Given the description of an element on the screen output the (x, y) to click on. 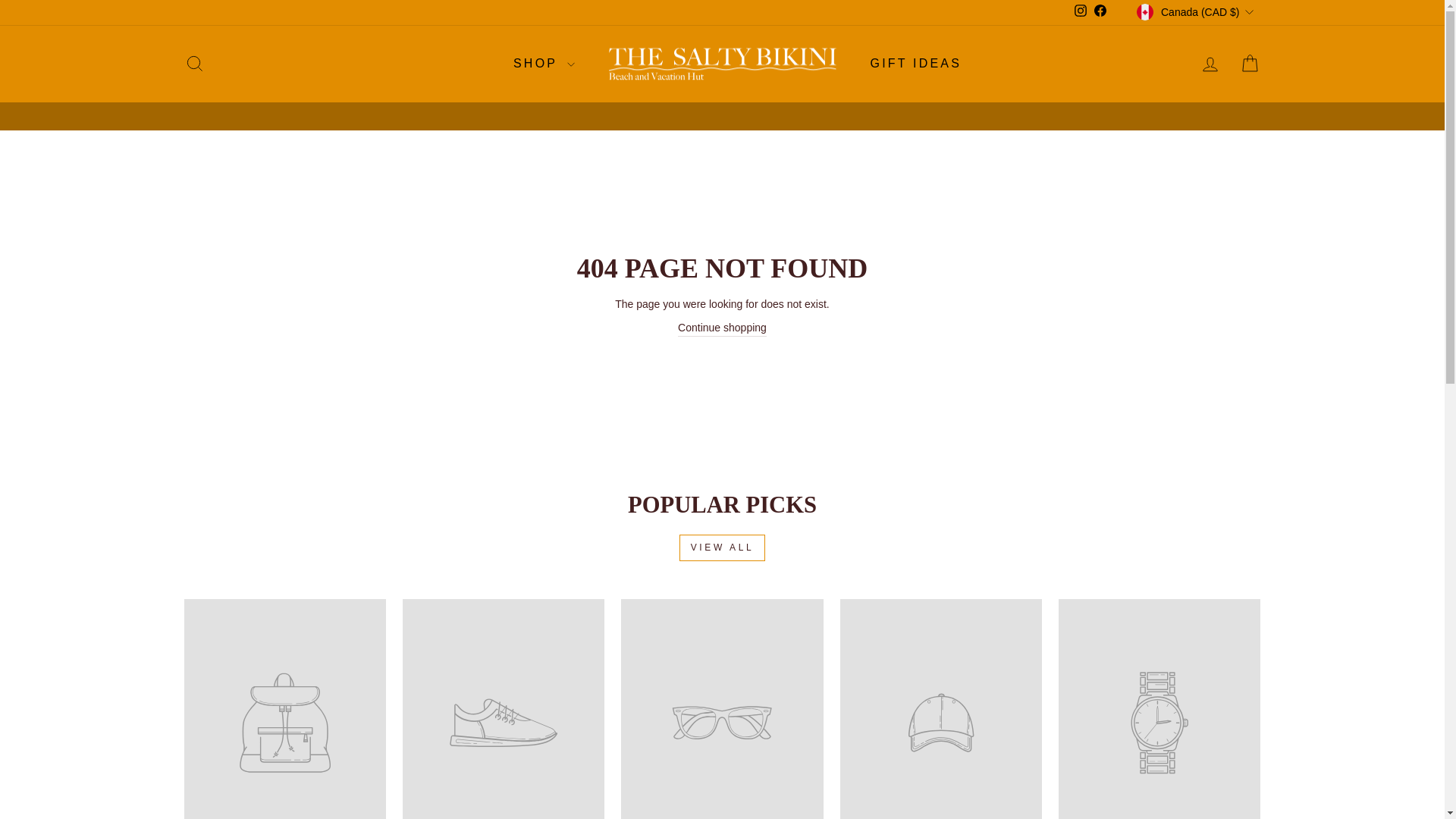
Shop Ausmosis Swim Btq on Instagram (1080, 11)
ICON-SEARCH (194, 63)
ACCOUNT (1210, 64)
instagram (1080, 10)
Shop Ausmosis Swim Btq on Facebook (1099, 11)
